Given the description of an element on the screen output the (x, y) to click on. 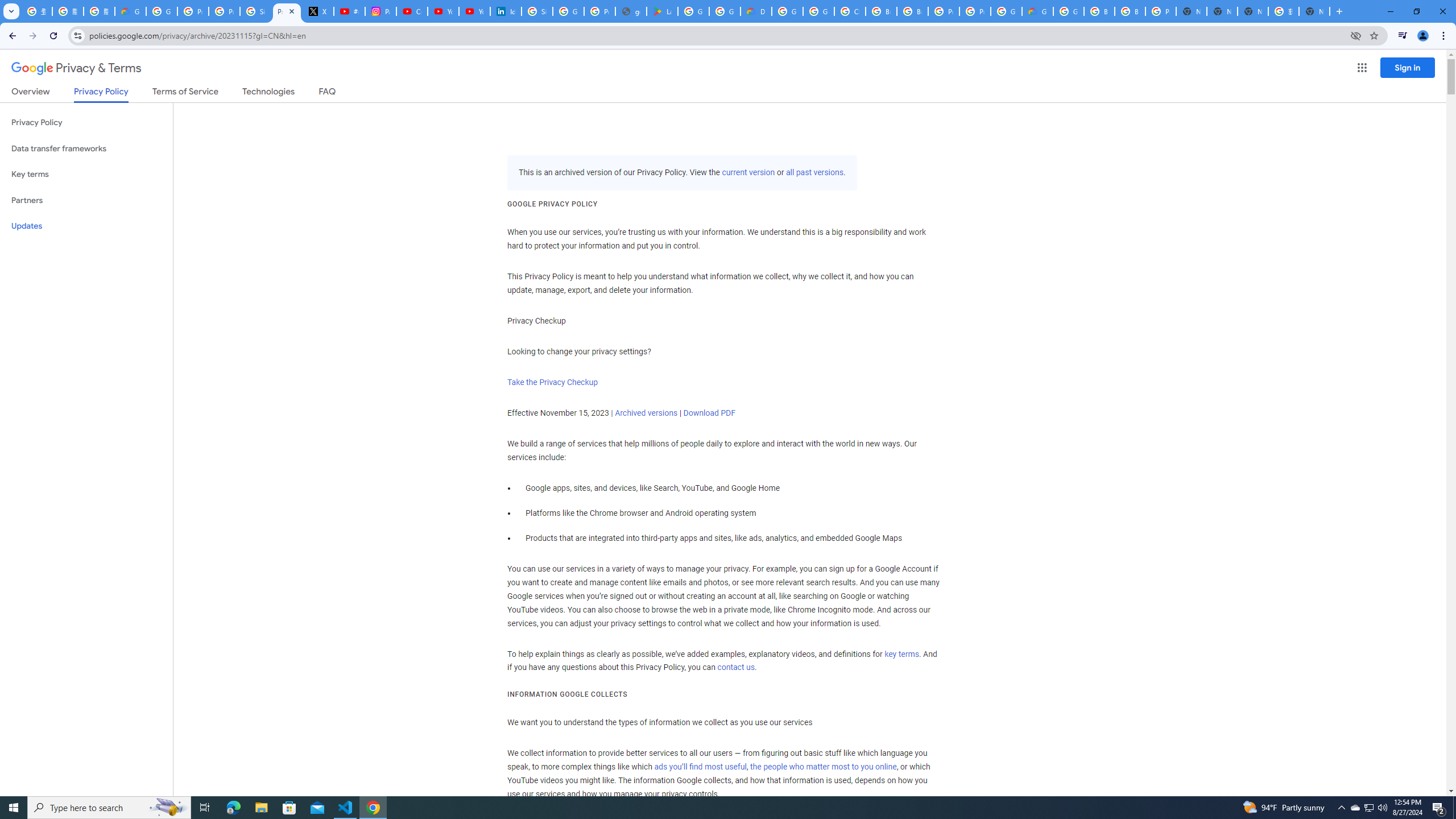
#nbabasketballhighlights - YouTube (349, 11)
Browse Chrome as a guest - Computer - Google Chrome Help (1098, 11)
Browse Chrome as a guest - Computer - Google Chrome Help (912, 11)
X (318, 11)
Google Cloud Platform (1068, 11)
Last Shelter: Survival - Apps on Google Play (662, 11)
